Given the description of an element on the screen output the (x, y) to click on. 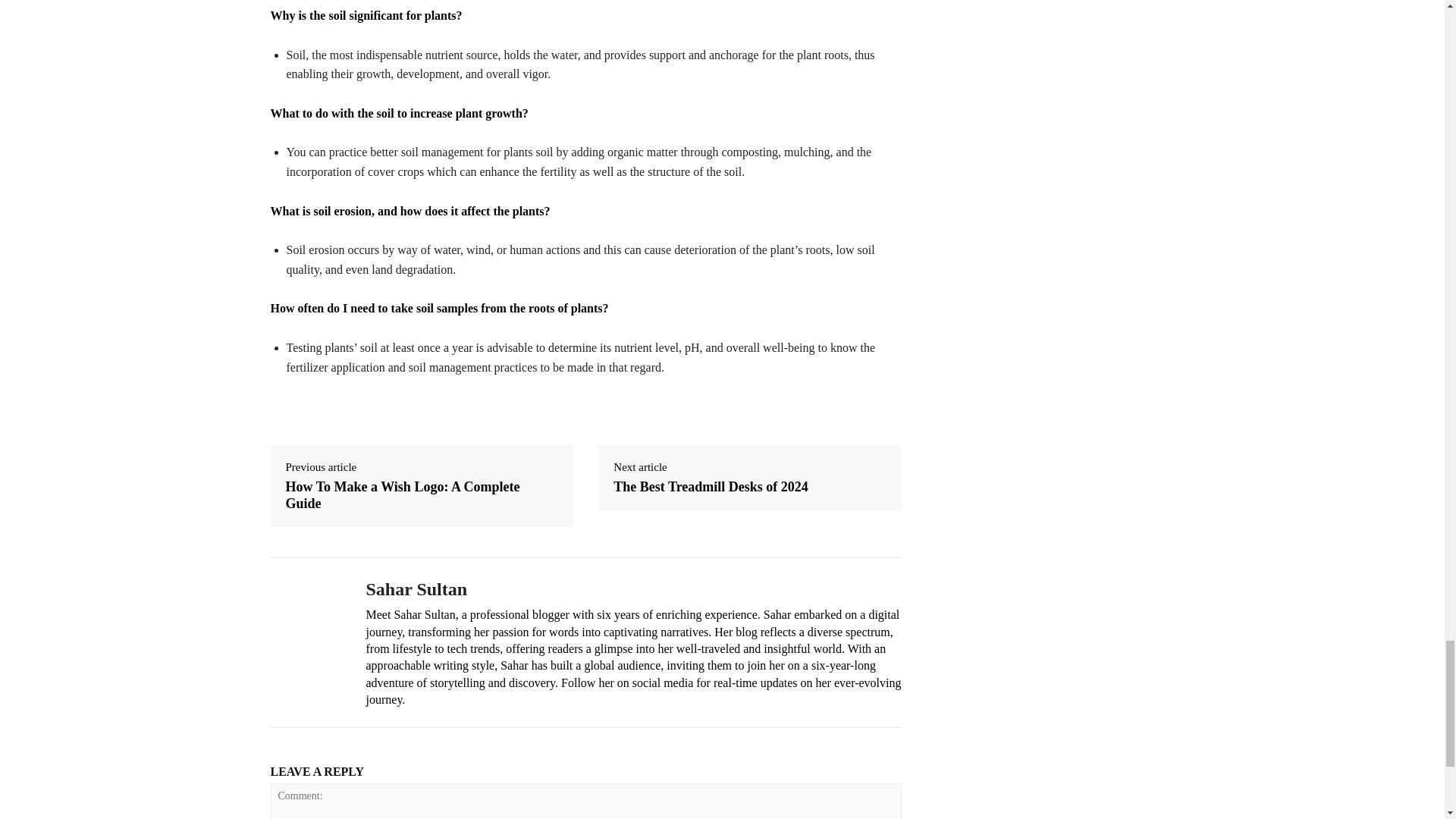
Sahar Sultan (633, 589)
The Best Treadmill Desks of 2024 (710, 487)
How To Make a Wish Logo: A Complete Guide (421, 495)
